Given the description of an element on the screen output the (x, y) to click on. 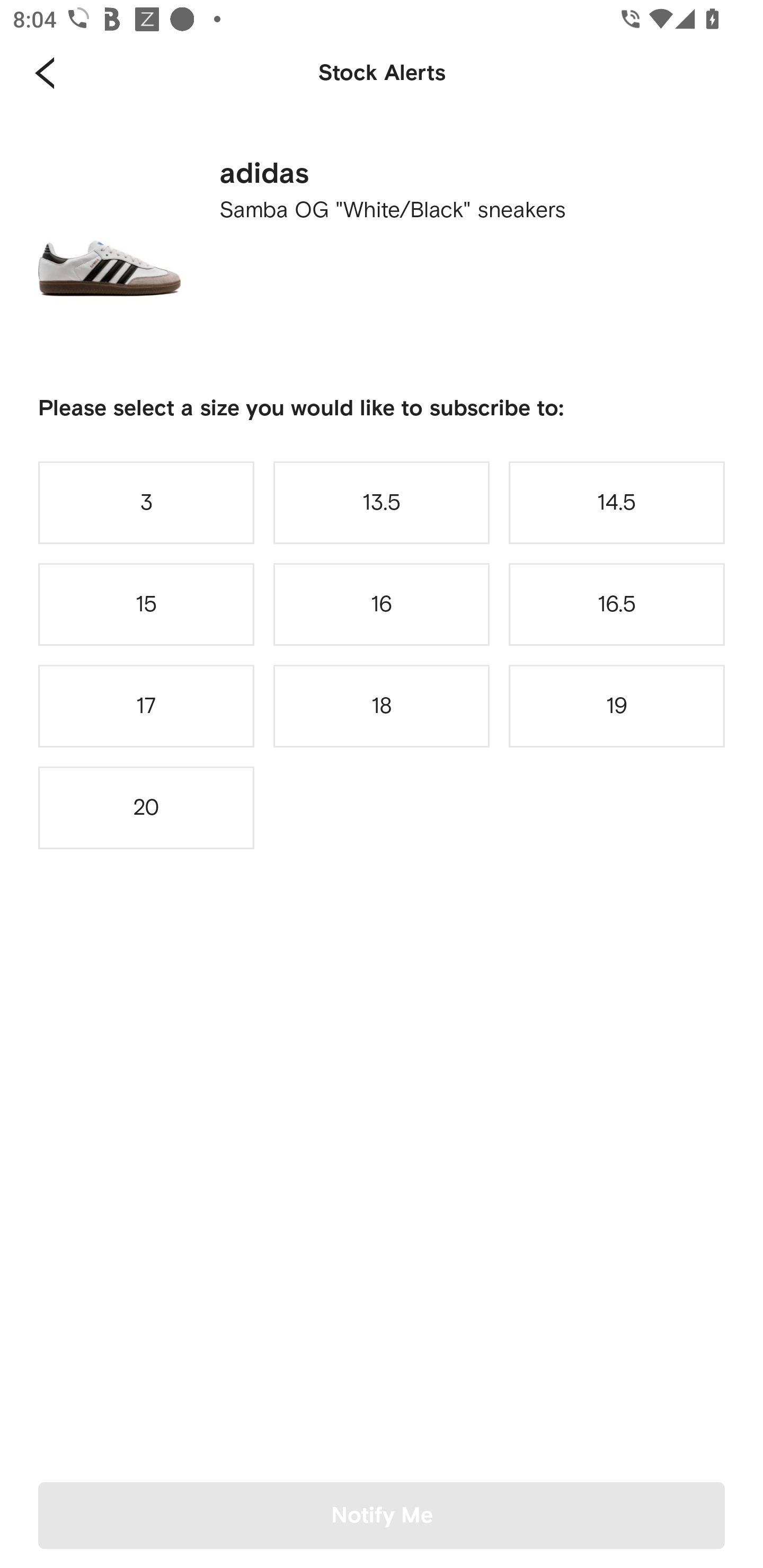
3 (146, 502)
13.5 (381, 502)
14.5 (616, 502)
15 (146, 604)
16 (381, 604)
16.5 (616, 604)
17 (146, 705)
18 (381, 705)
19 (616, 705)
20 (146, 807)
Notify Me (381, 1515)
